Given the description of an element on the screen output the (x, y) to click on. 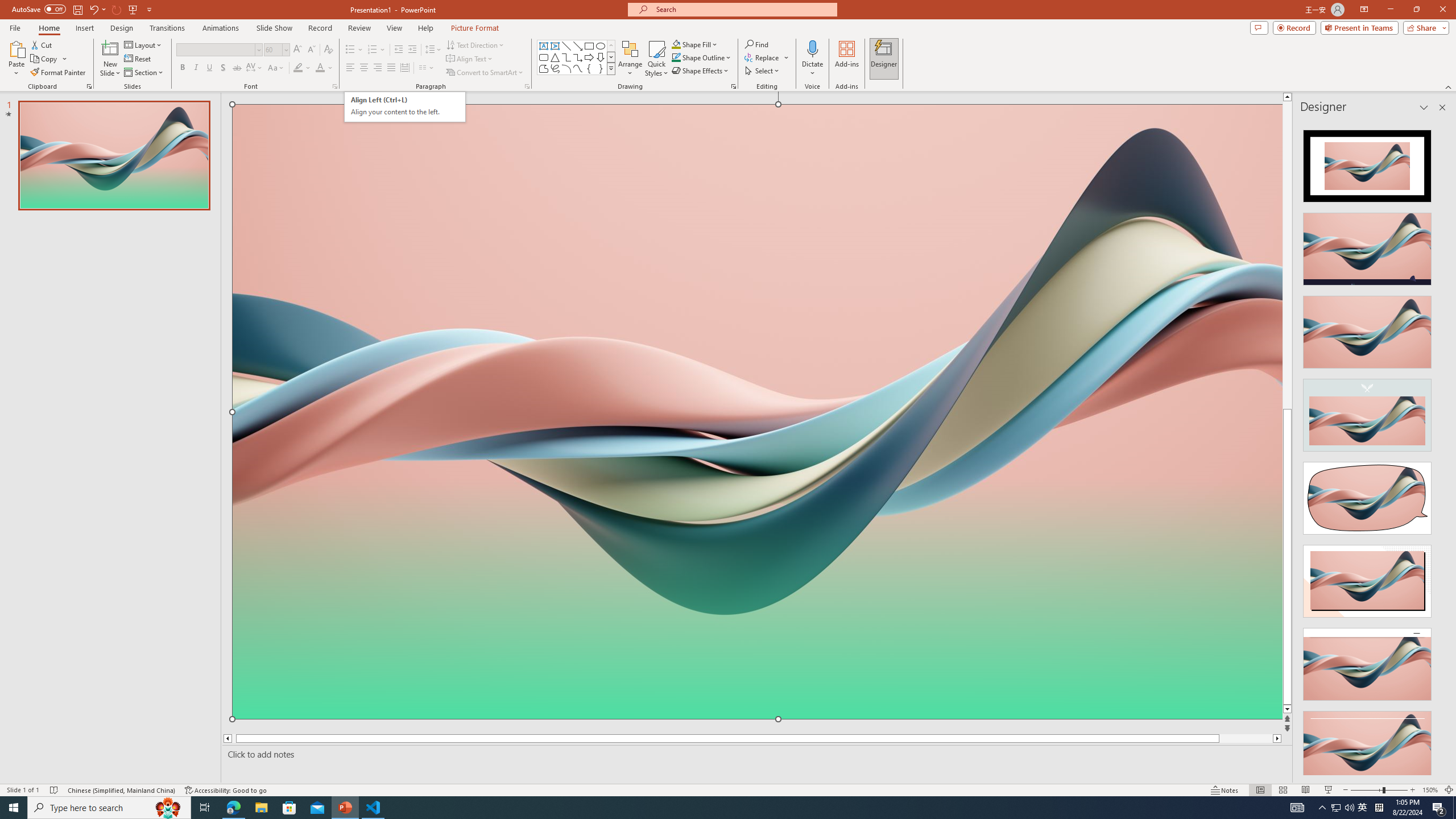
Decorative Locked (757, 579)
